Given the description of an element on the screen output the (x, y) to click on. 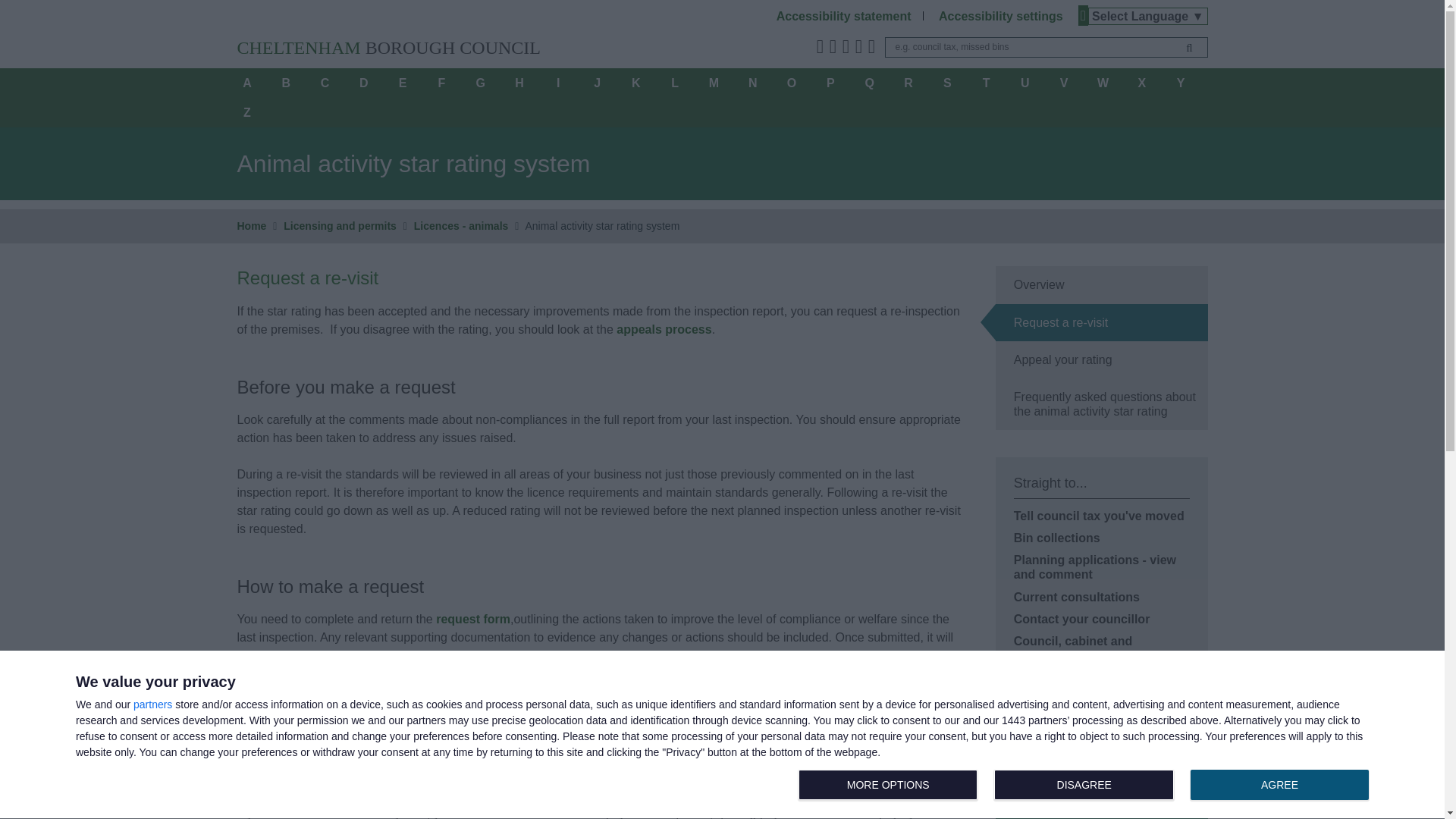
C (324, 82)
DISAGREE (1083, 784)
N (752, 82)
AGREE (1086, 785)
J (1279, 784)
T (596, 82)
Y (986, 82)
O (1180, 82)
U (791, 82)
Accessibility settings (1024, 82)
partners (1000, 15)
X (152, 704)
Accessibility statement (1141, 82)
CHELTENHAM BOROUGH COUNCIL (843, 15)
